Given the description of an element on the screen output the (x, y) to click on. 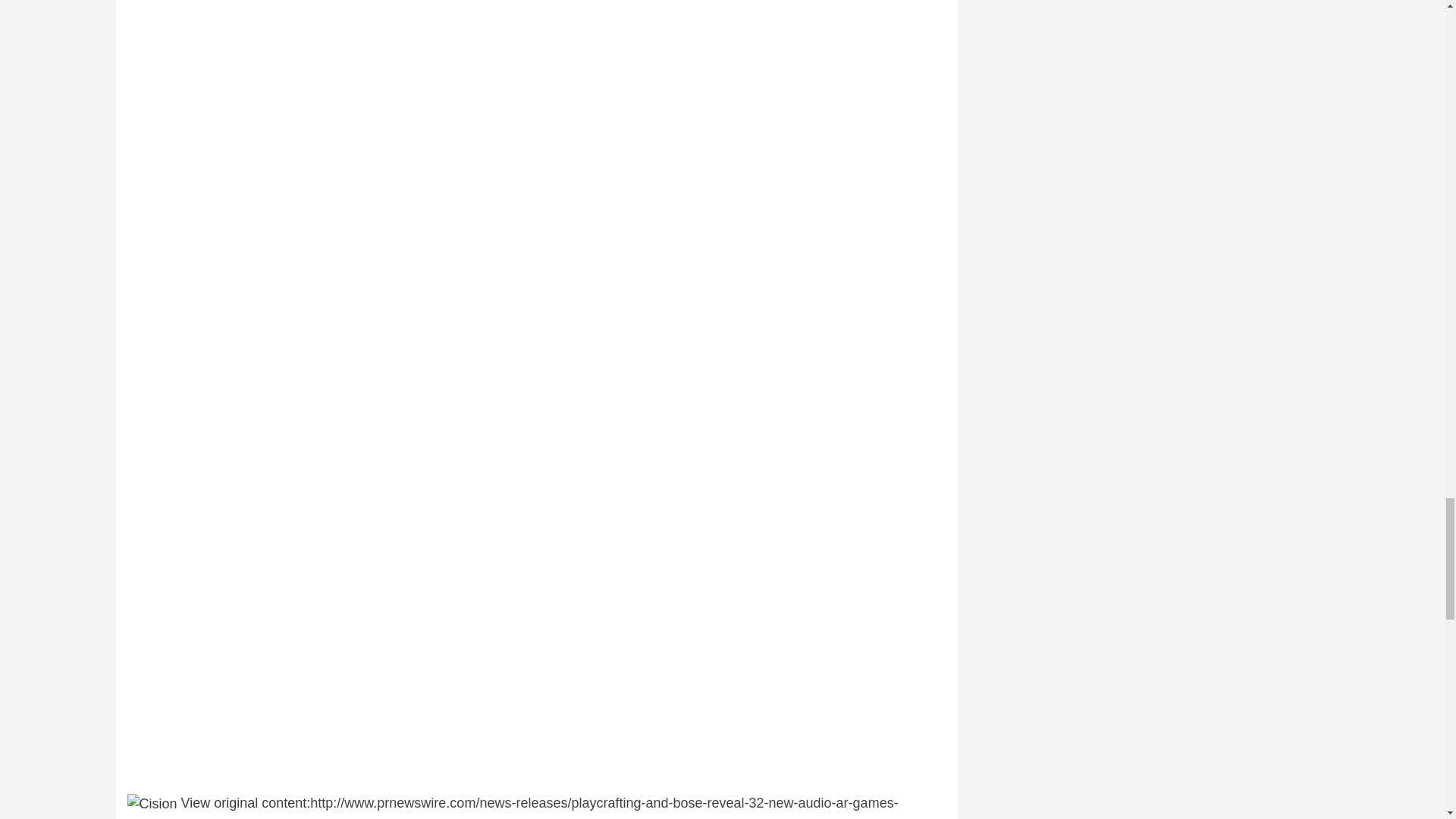
Playcrafting x Bose AR NYC Game Jam (537, 22)
Cision ID (152, 803)
